Given the description of an element on the screen output the (x, y) to click on. 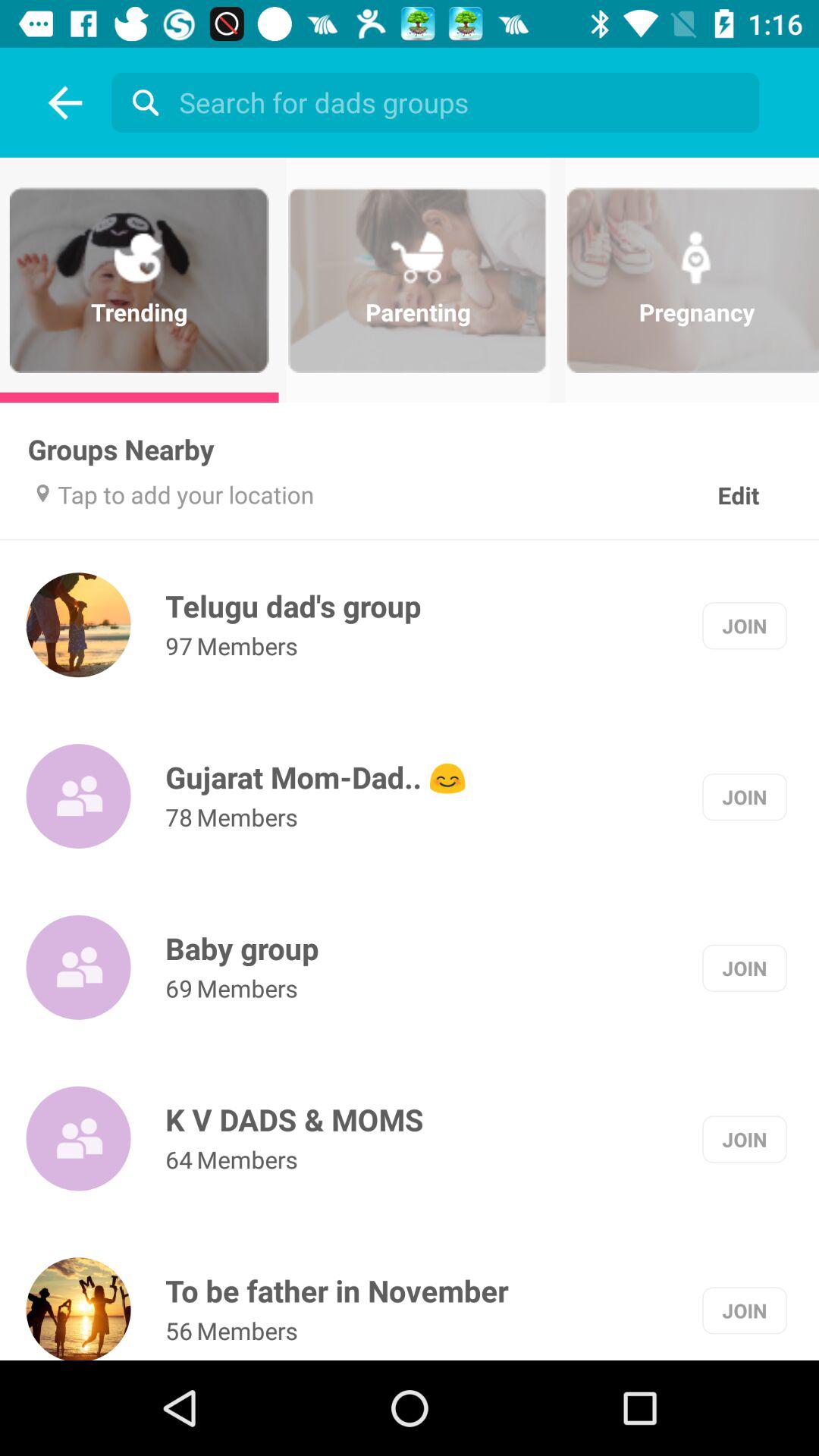
scroll to the groups nearby (120, 449)
